Given the description of an element on the screen output the (x, y) to click on. 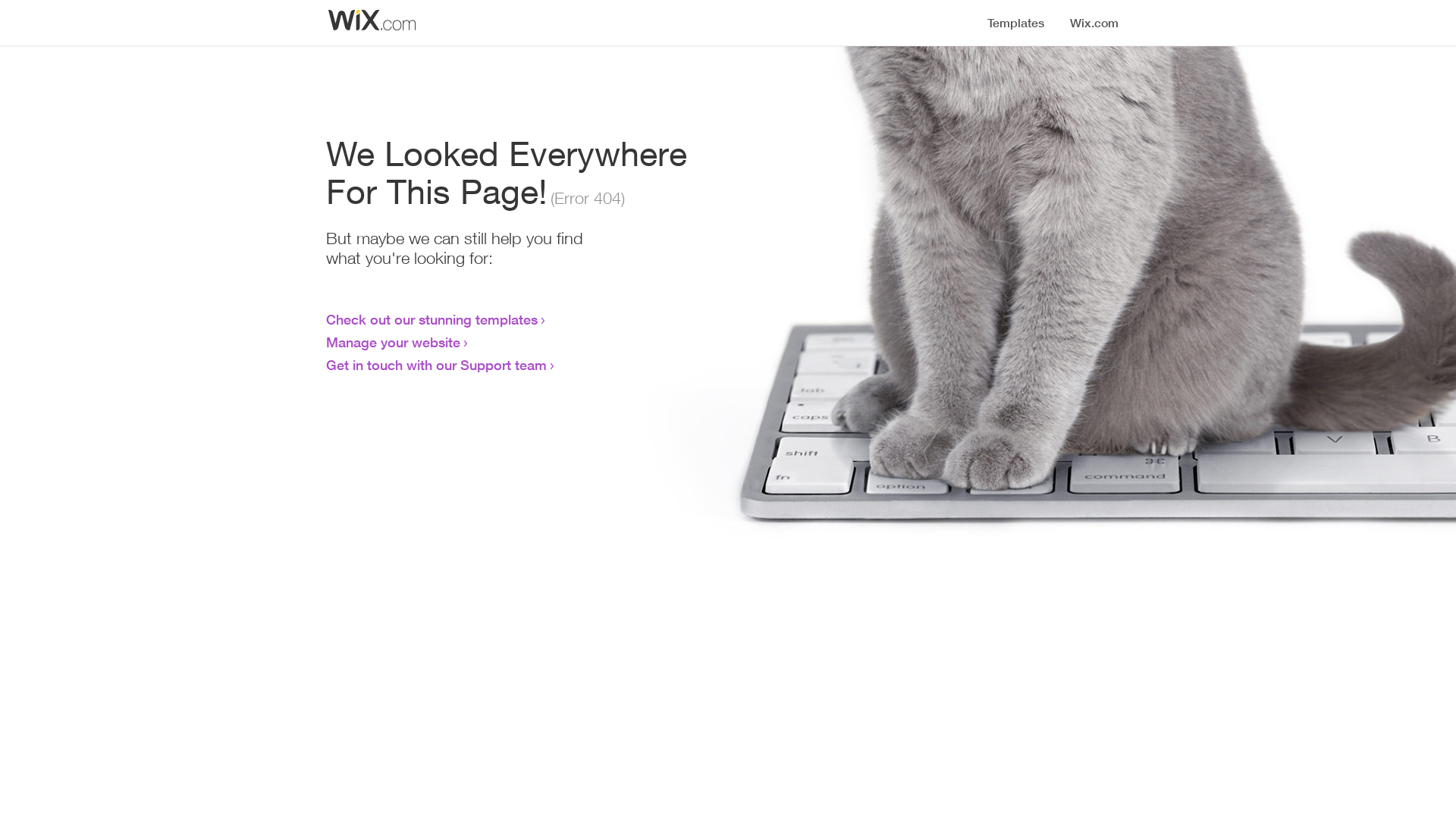
Get in touch with our Support team Element type: text (436, 364)
Check out our stunning templates Element type: text (431, 318)
Manage your website Element type: text (393, 341)
